Given the description of an element on the screen output the (x, y) to click on. 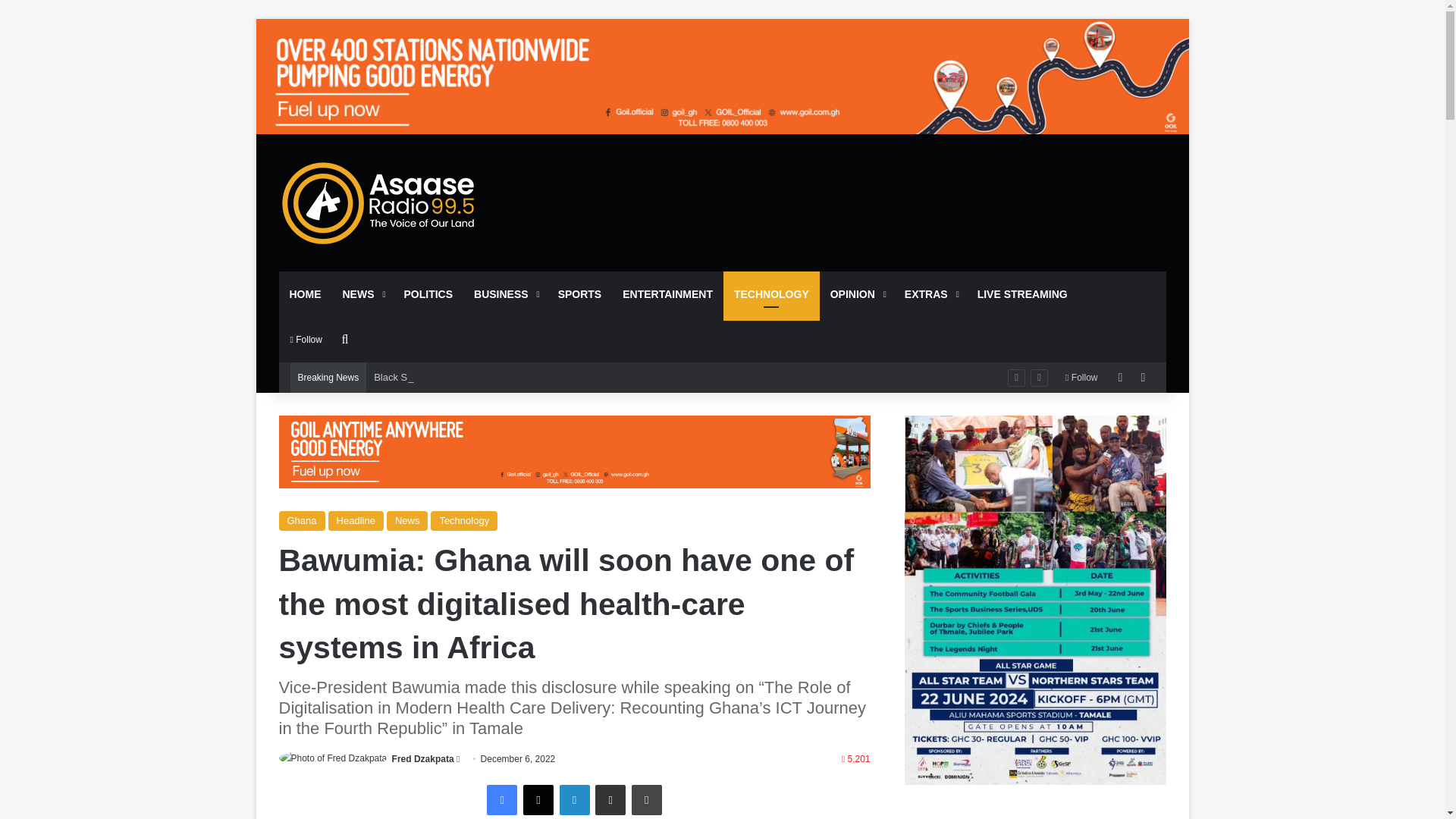
LinkedIn (574, 799)
HOME (305, 293)
POLITICS (428, 293)
Share via Email (610, 799)
Print (646, 799)
Facebook (501, 799)
Fred Dzakpata (422, 758)
BUSINESS (505, 293)
NEWS (362, 293)
X (537, 799)
Asaase Radio (379, 202)
